Given the description of an element on the screen output the (x, y) to click on. 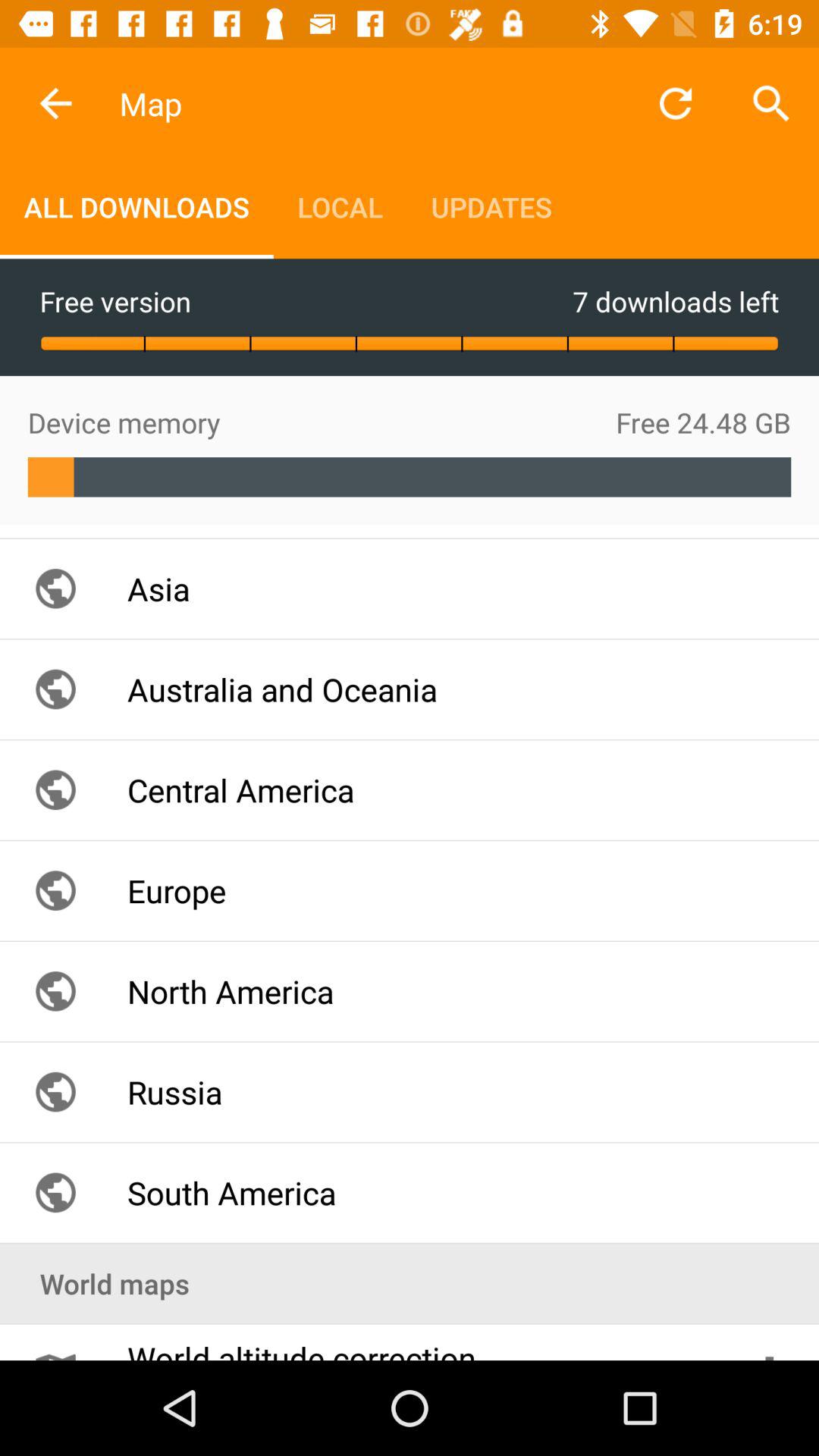
press the item next to updates item (675, 103)
